Given the description of an element on the screen output the (x, y) to click on. 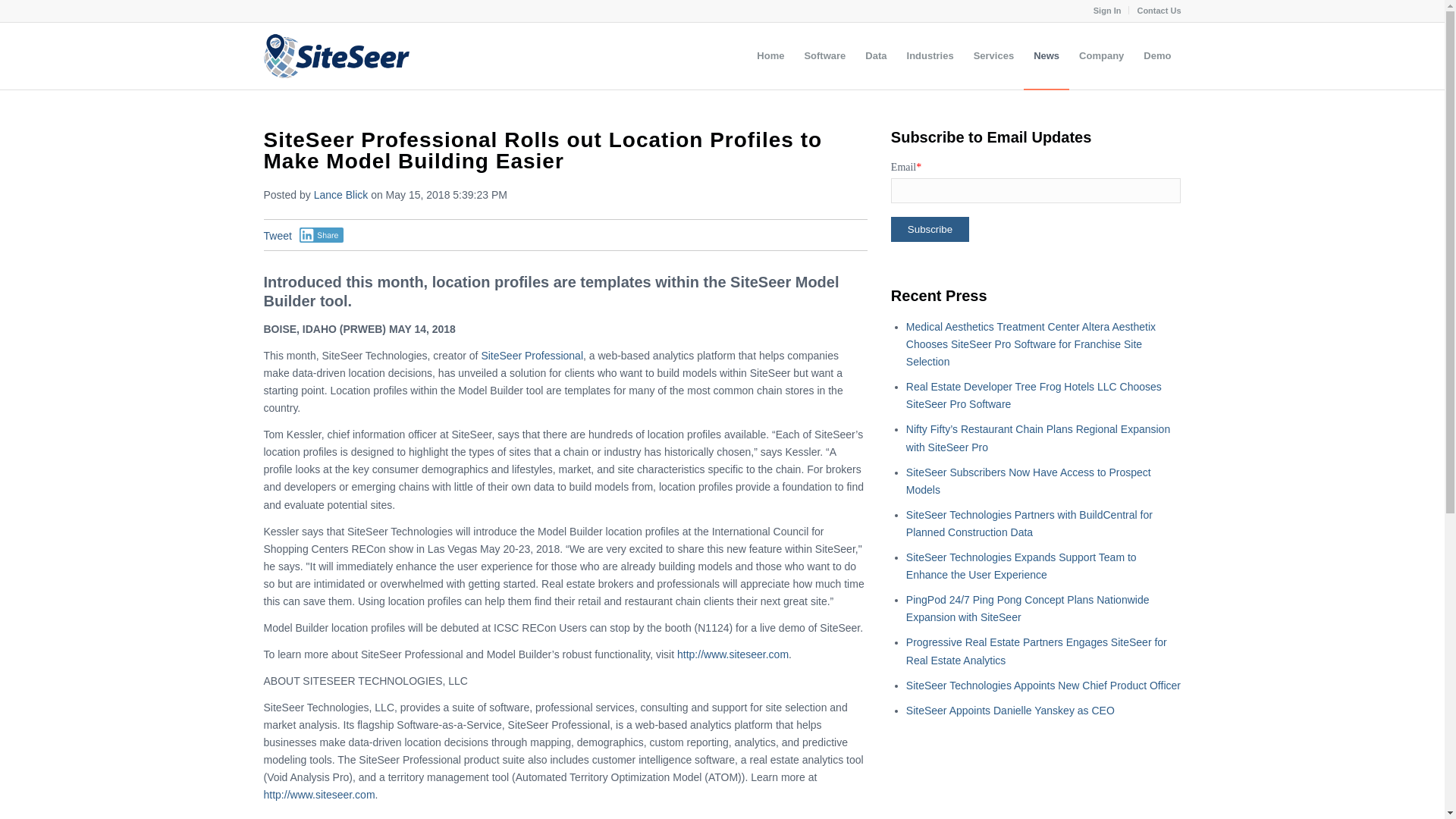
Contact Us (1158, 10)
Subscribe (930, 229)
Services (994, 55)
Siteseer (336, 55)
Lance Blick (341, 194)
Industries (929, 55)
Software (824, 55)
Company (1101, 55)
Sign In (1107, 10)
